Given the description of an element on the screen output the (x, y) to click on. 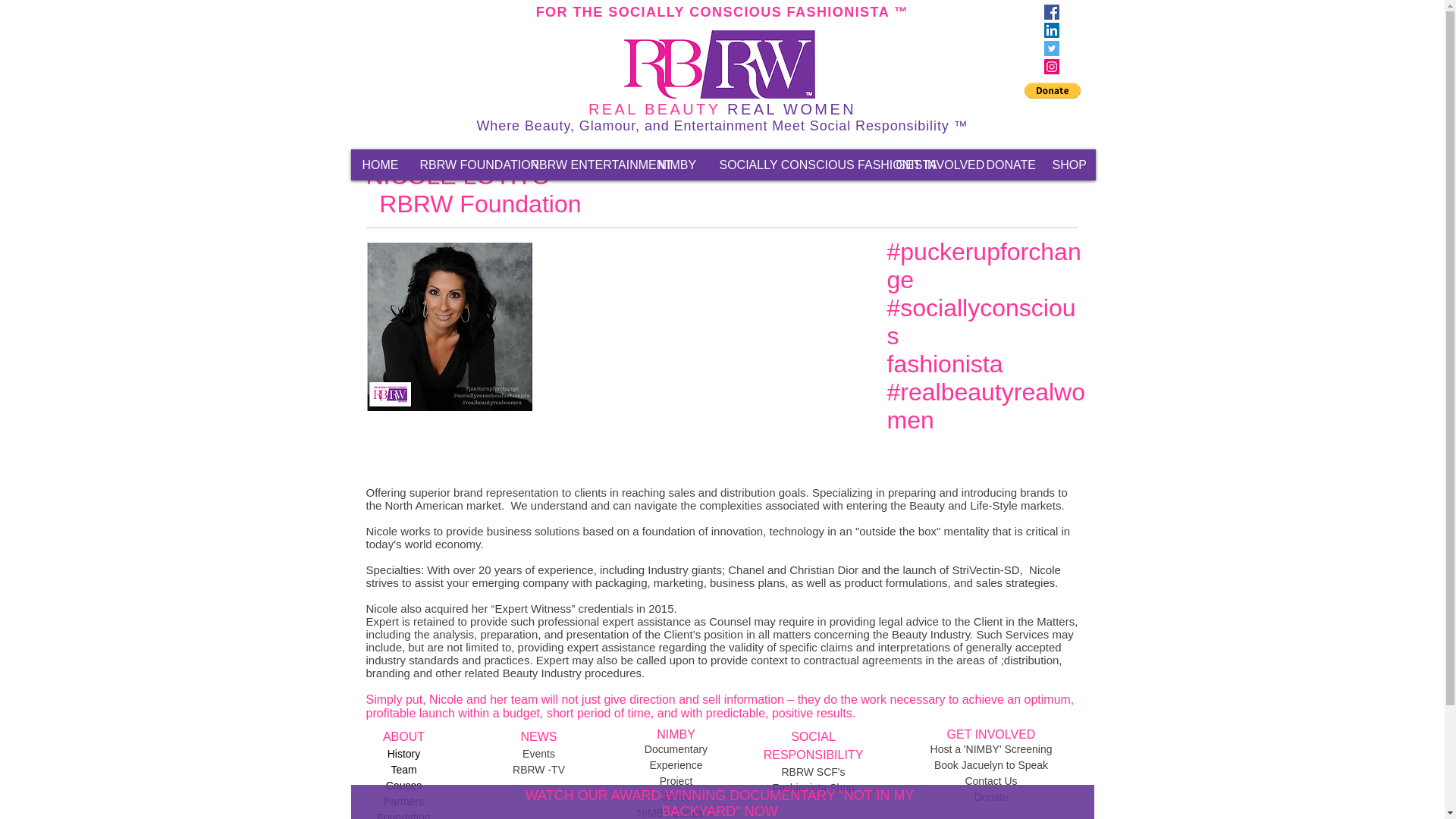
RBRW -TV (538, 769)
WATCH OUR AWARD-WINNING DOCUMENTARY "NOT IN MY BACKYARD" NOW (719, 803)
DONATE (1006, 164)
Partners (403, 801)
Team (403, 769)
NIMBY (676, 164)
Events (538, 753)
External Vimeo (723, 321)
SHOP (1068, 164)
HOME (378, 164)
